Given the description of an element on the screen output the (x, y) to click on. 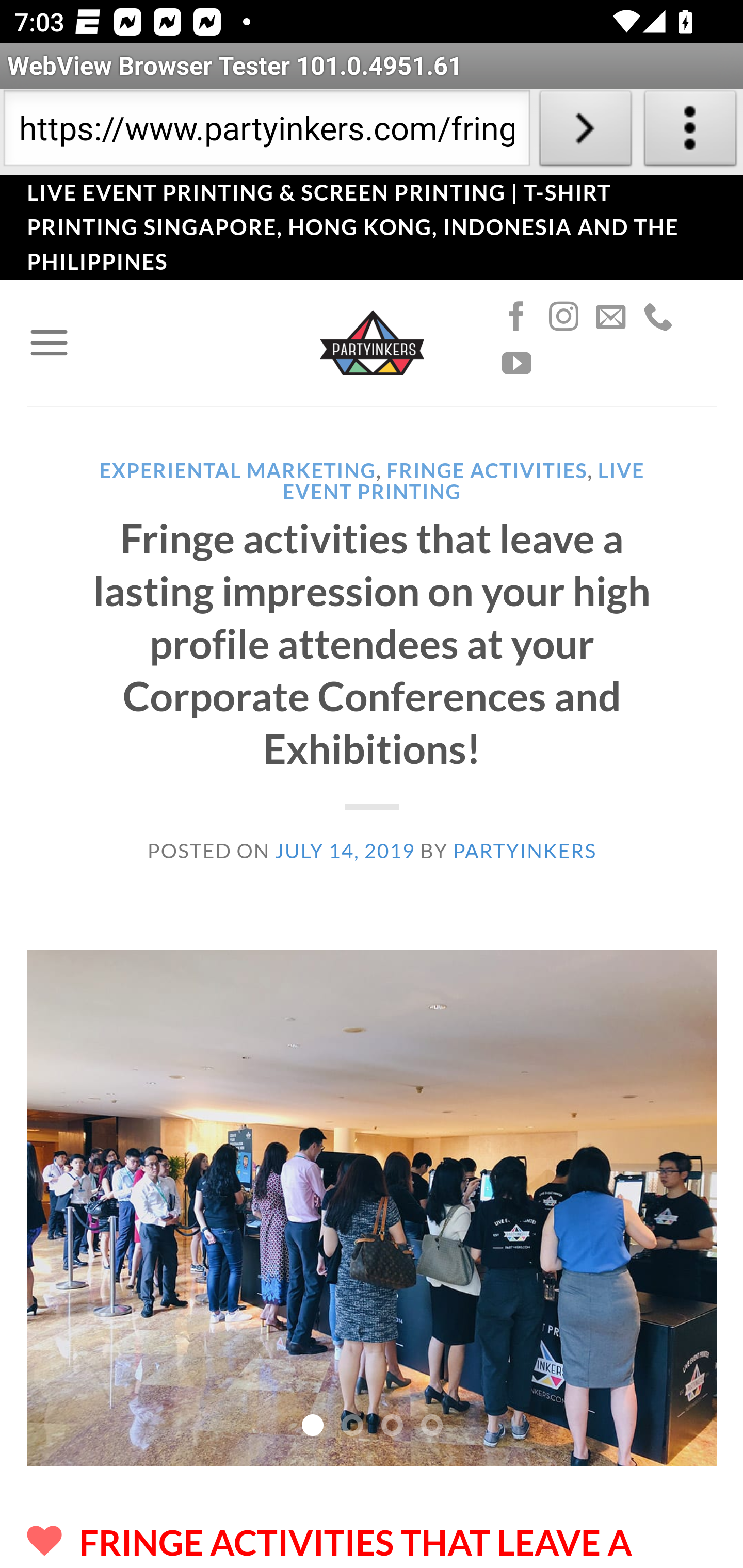
Load URL (585, 132)
About WebView (690, 132)
partyinkers (371, 341)
Menu  (48, 342)
 (516, 317)
 (562, 317)
 (610, 317)
 (657, 317)
 (516, 364)
EXPERIENTAL MARKETING (237, 470)
LIVE EVENT PRINTING (463, 480)
FRINGE ACTIVITIES (487, 470)
JULY 14, 2019 (345, 849)
PARTYINKERS (524, 849)
